Given the description of an element on the screen output the (x, y) to click on. 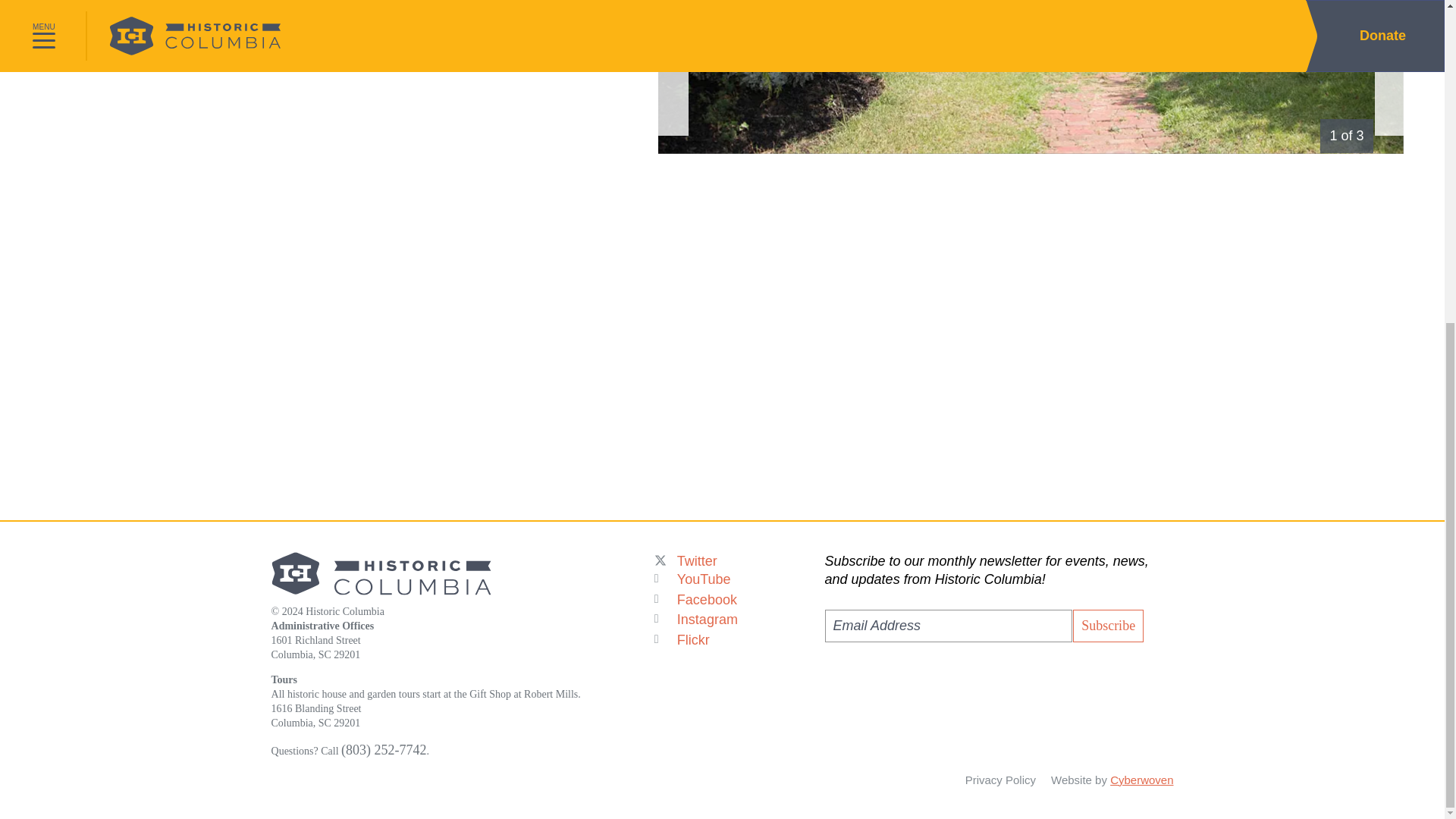
Subscribe (1107, 625)
